Given the description of an element on the screen output the (x, y) to click on. 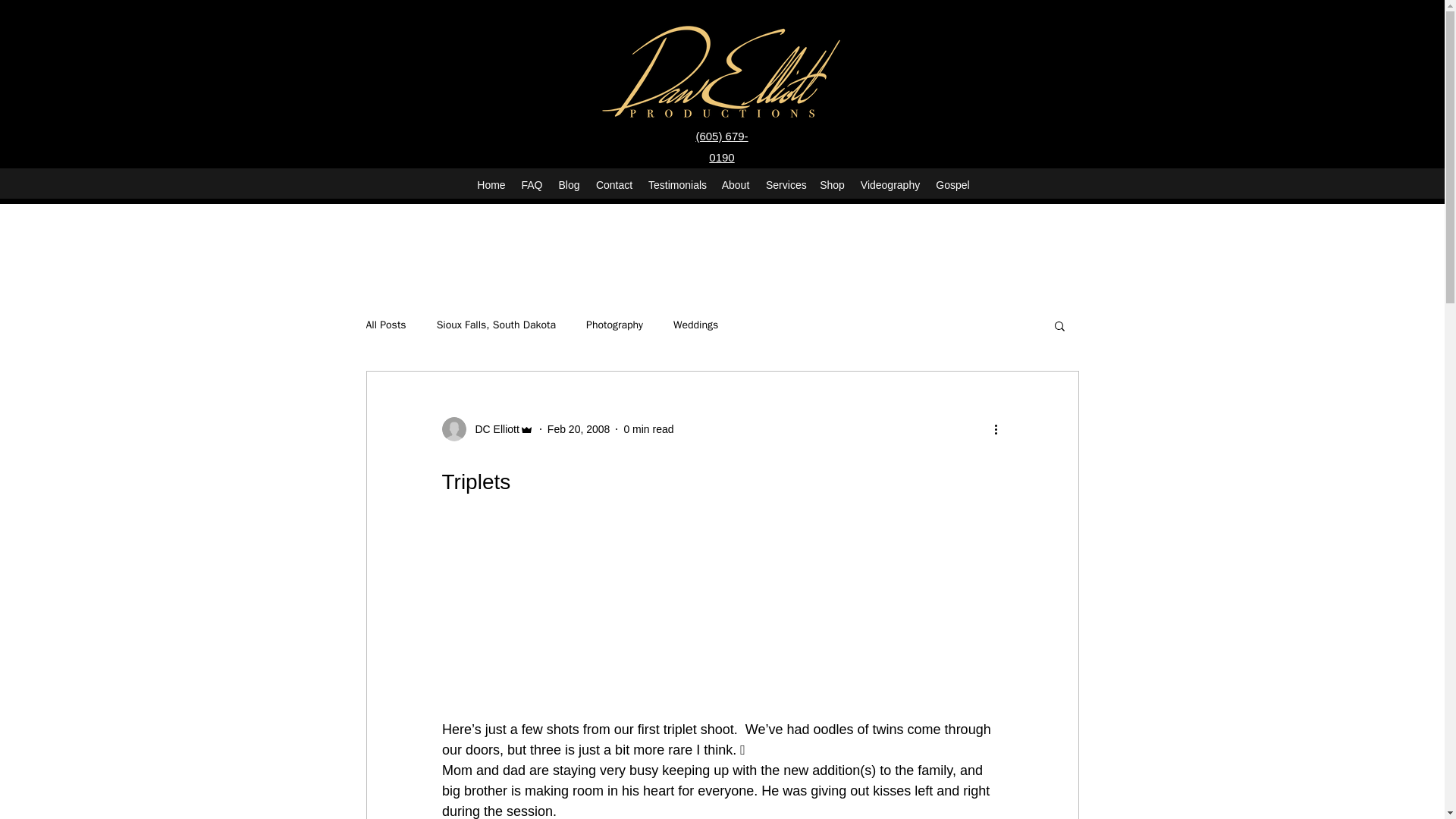
DC Elliott (491, 429)
DC Elliott (486, 428)
Gospel (952, 185)
FAQ (531, 185)
All Posts (385, 325)
Feb 20, 2008 (578, 428)
About (735, 185)
0 min read (647, 428)
Sioux Falls, South Dakota (496, 325)
Weddings (694, 325)
